Given the description of an element on the screen output the (x, y) to click on. 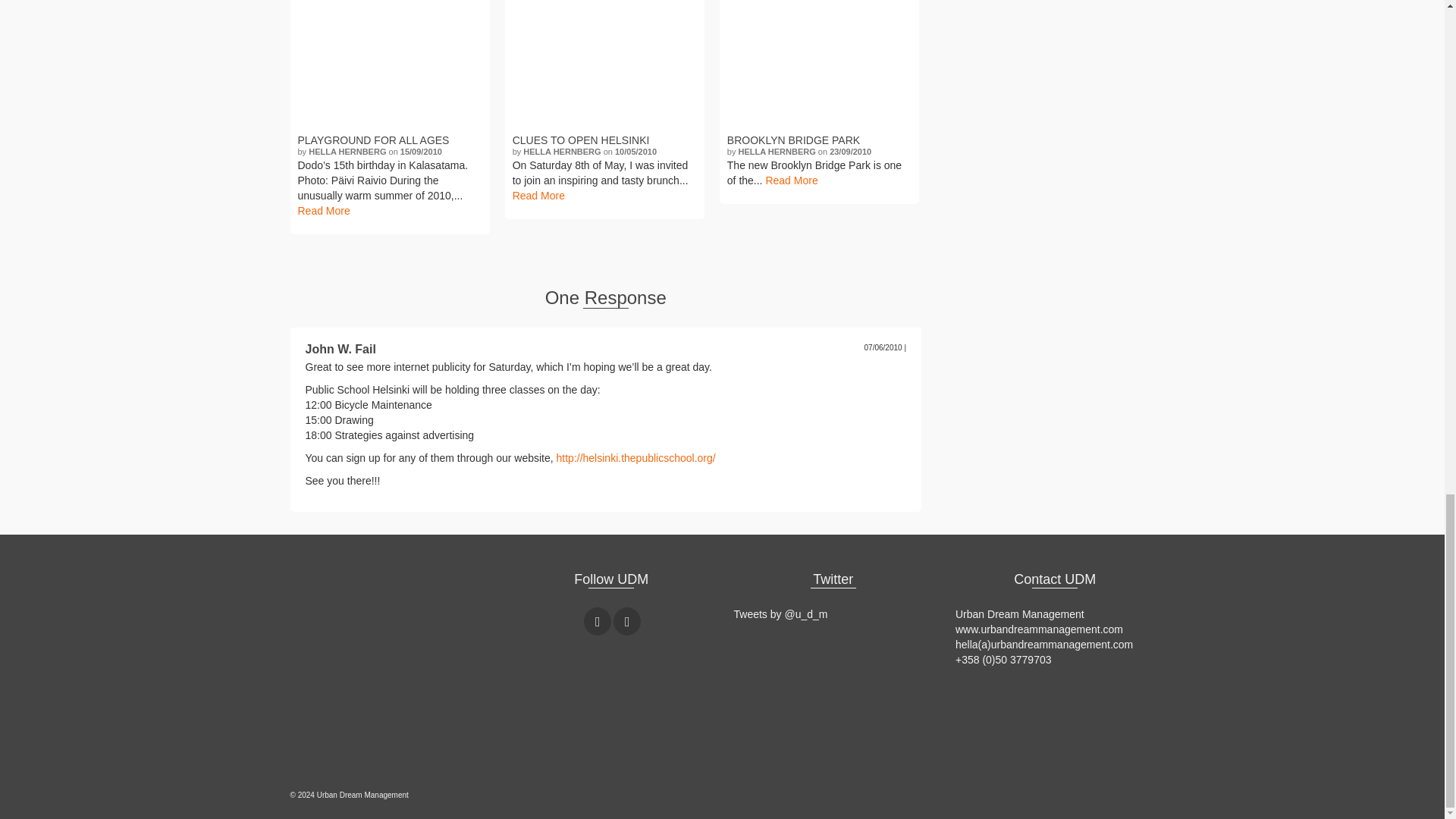
PLAYGROUND FOR ALL AGES (389, 63)
HELLA HERNBERG (346, 151)
Read More (323, 210)
CLUES TO OPEN HELSINKI (604, 140)
HELLA HERNBERG (560, 151)
BROOKLYN BRIDGE PARK (818, 63)
CLUES TO OPEN HELSINKI (604, 63)
PLAYGROUND FOR ALL AGES (389, 140)
